Given the description of an element on the screen output the (x, y) to click on. 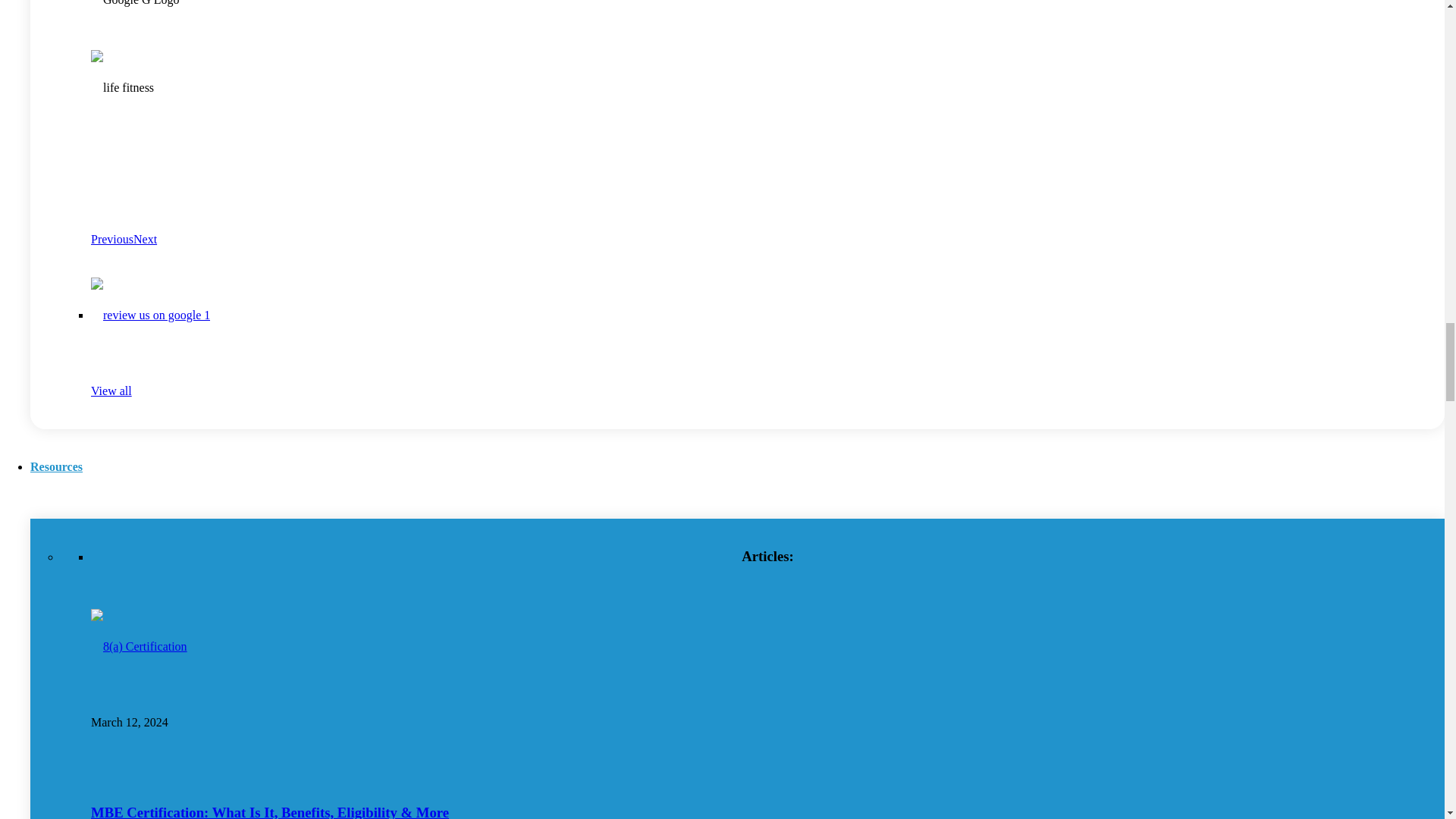
View all (111, 390)
Next (145, 238)
Resources (56, 466)
review us on google 1 (149, 314)
Previous (111, 238)
Google G Logo (134, 18)
